Given the description of an element on the screen output the (x, y) to click on. 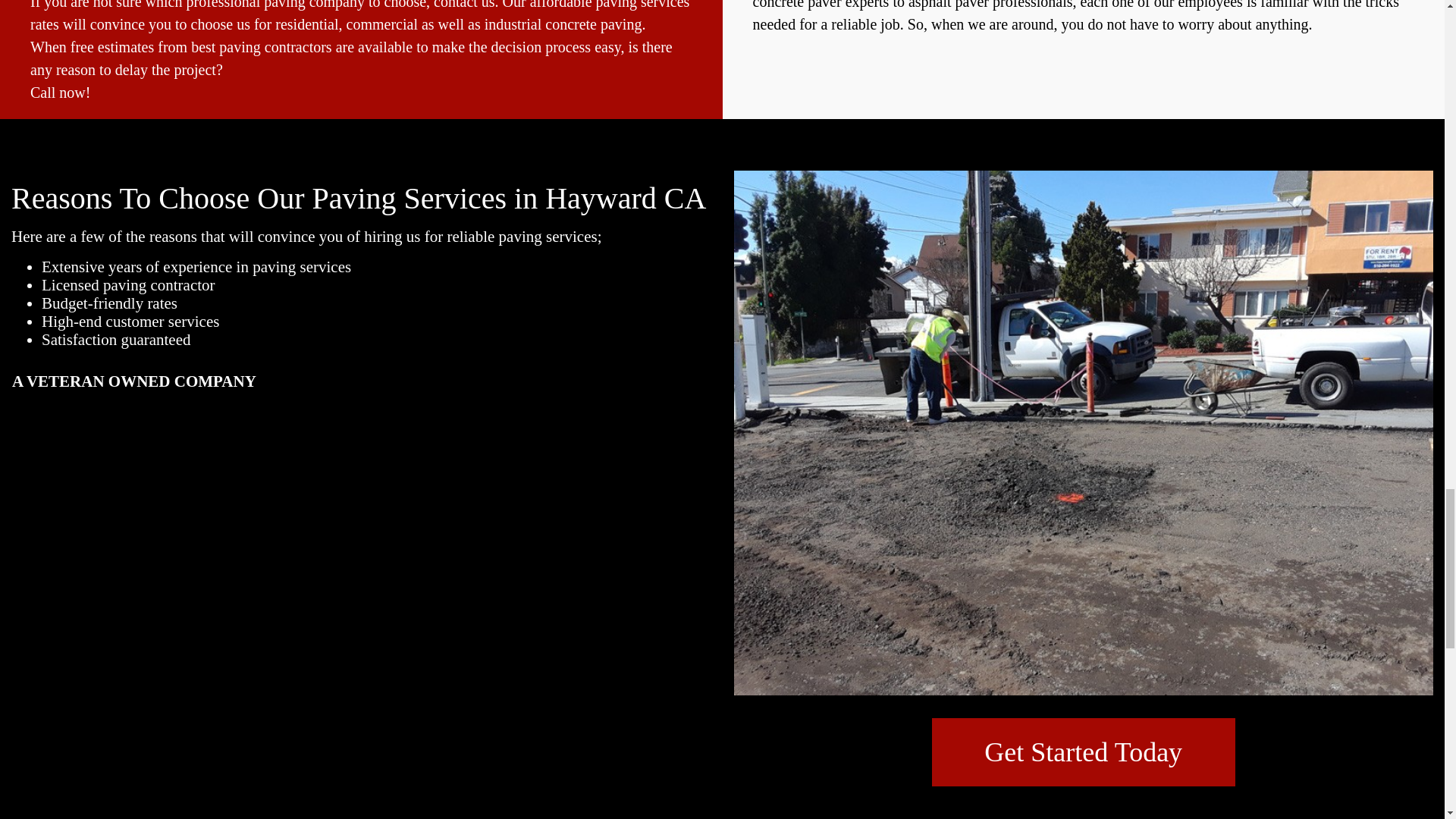
Get Started Today (1082, 752)
